Given the description of an element on the screen output the (x, y) to click on. 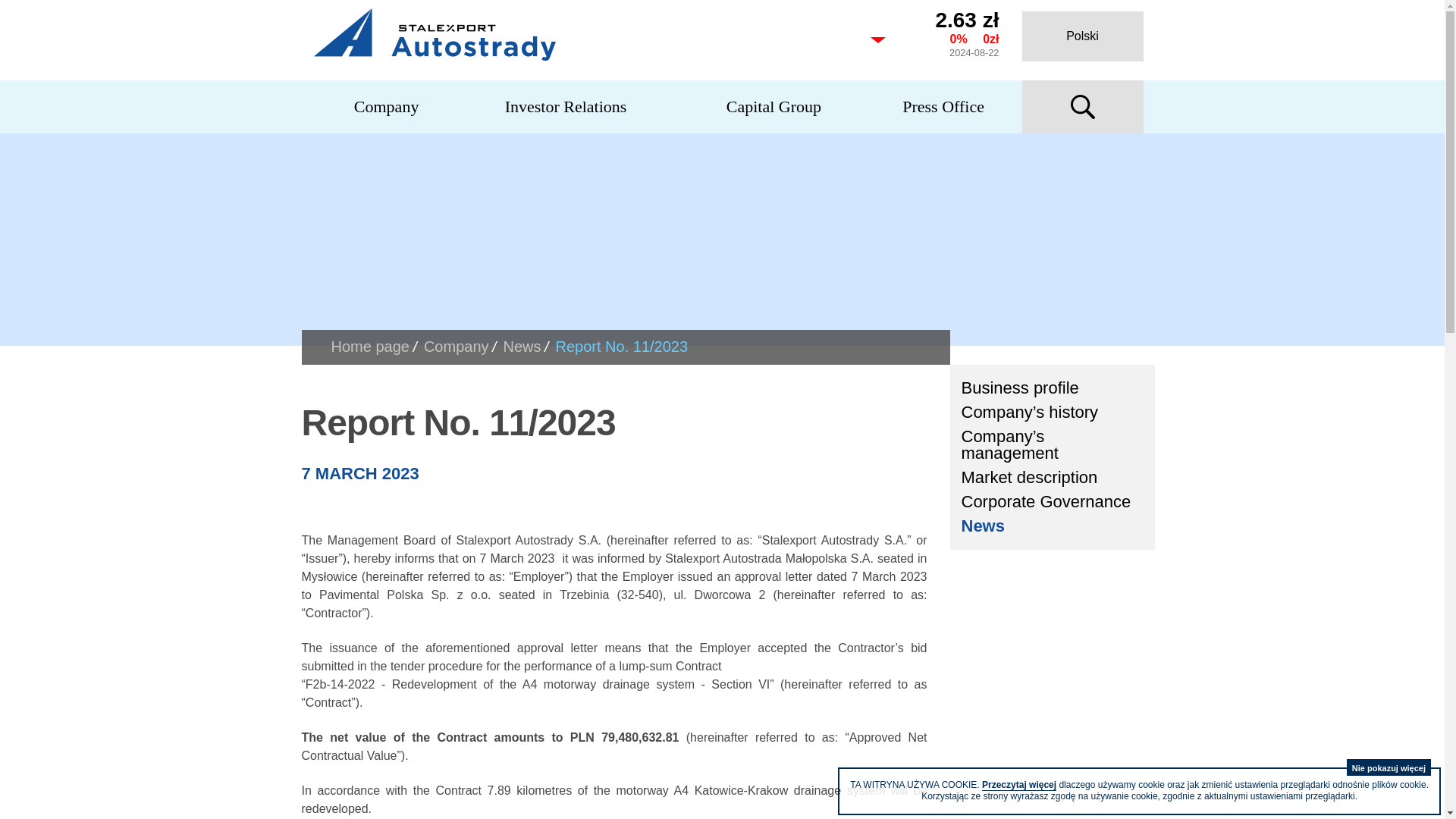
Market description (1051, 477)
Corporate Governance (1051, 501)
News (522, 346)
Capital Group (773, 106)
Press Office (943, 106)
Company (386, 106)
Business profile (1051, 387)
Polska (1082, 36)
Investor Relations (565, 106)
News (1051, 526)
